Given the description of an element on the screen output the (x, y) to click on. 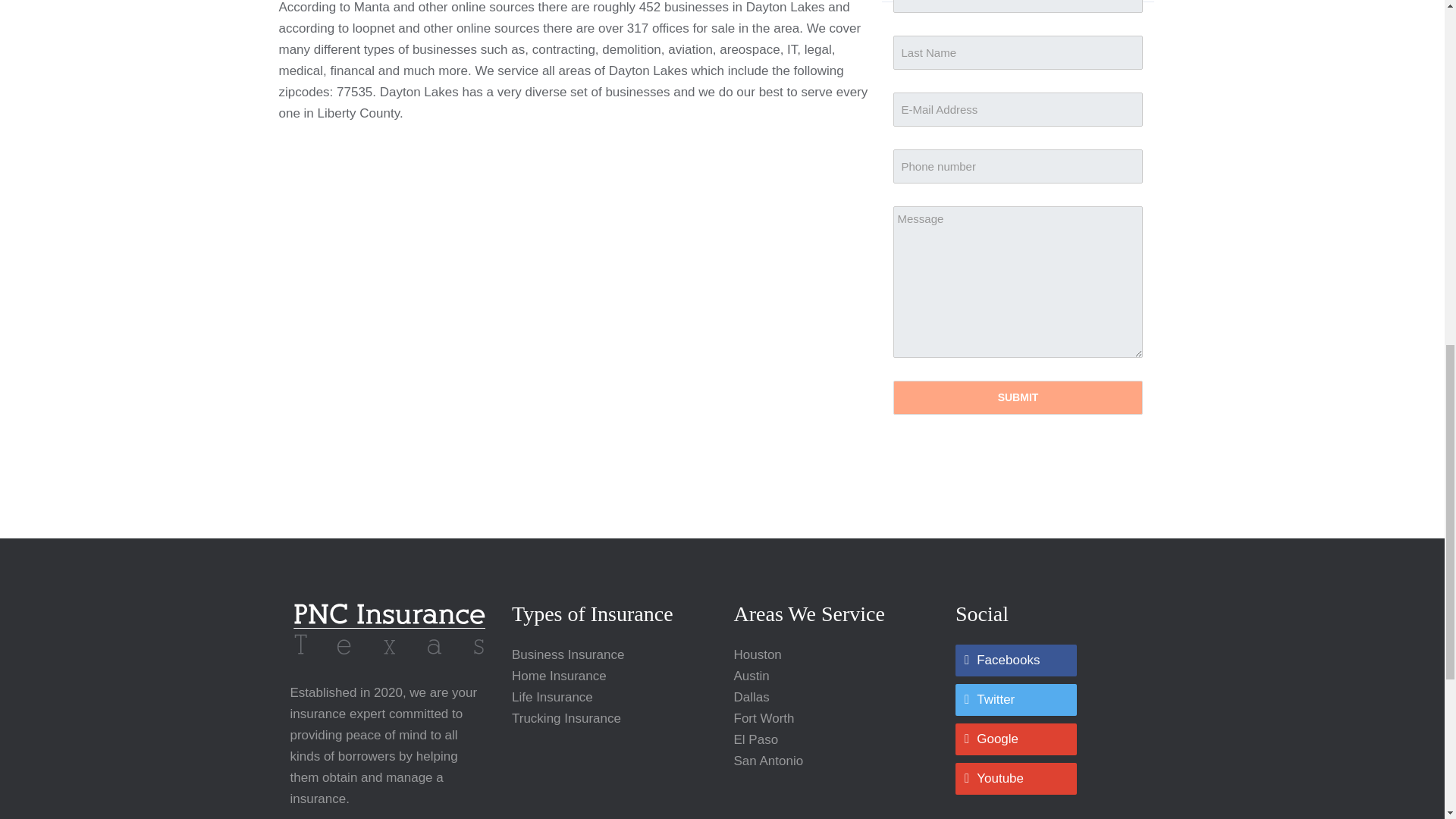
Submit (1017, 397)
